Given the description of an element on the screen output the (x, y) to click on. 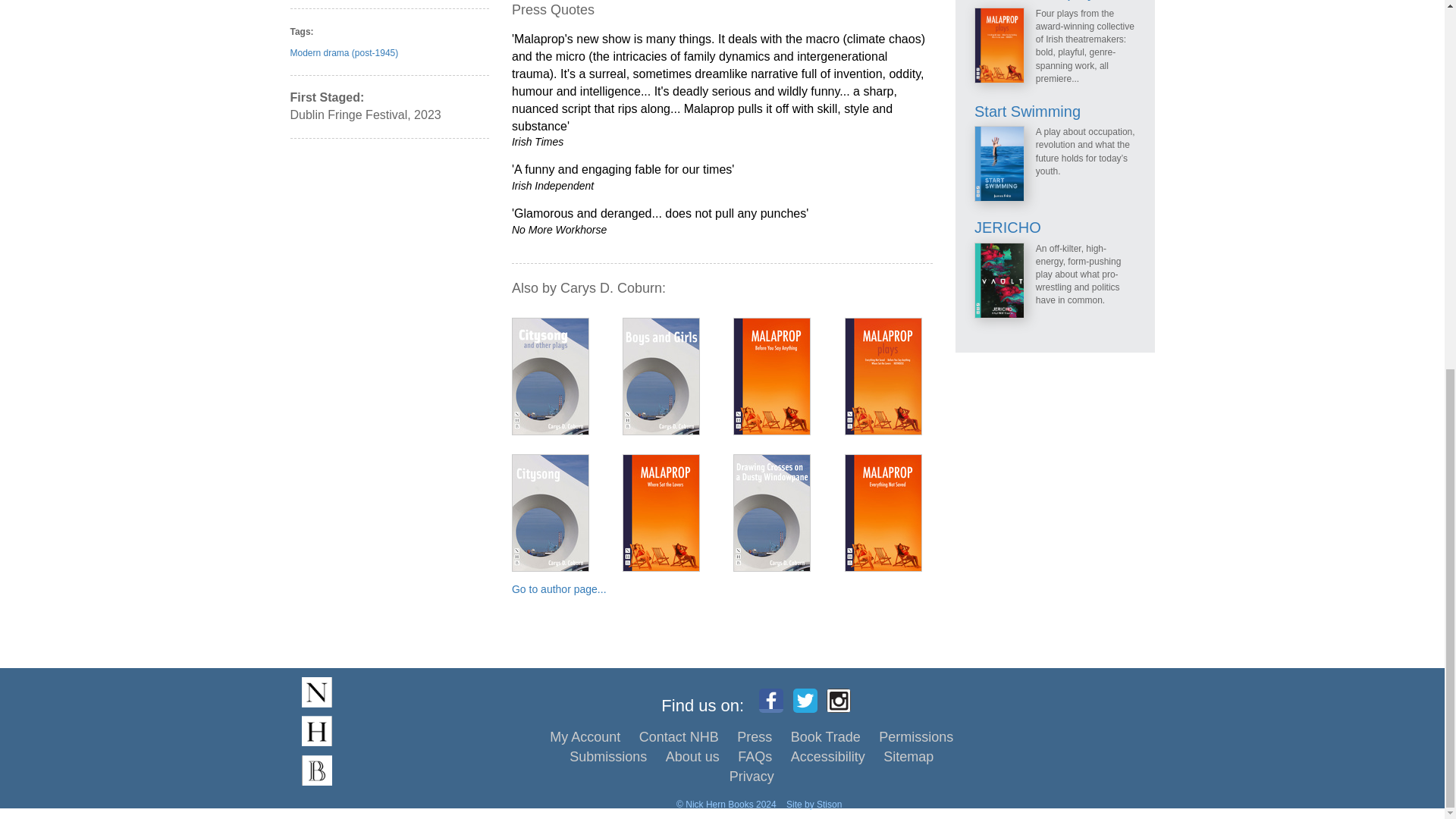
Instagram page (838, 700)
Facebook page (770, 700)
Twitter page (804, 700)
